Given the description of an element on the screen output the (x, y) to click on. 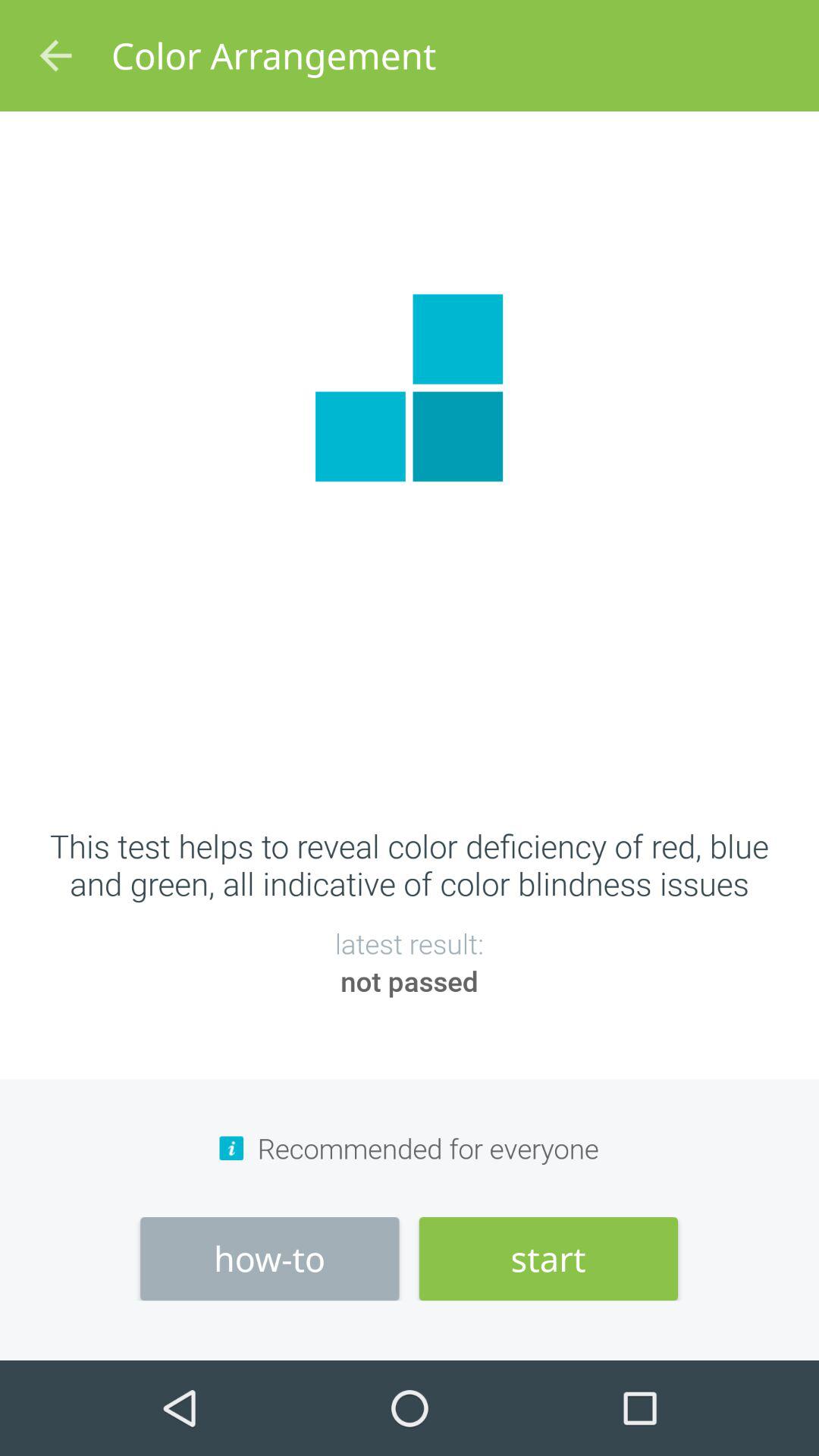
select the how-to (269, 1258)
